Given the description of an element on the screen output the (x, y) to click on. 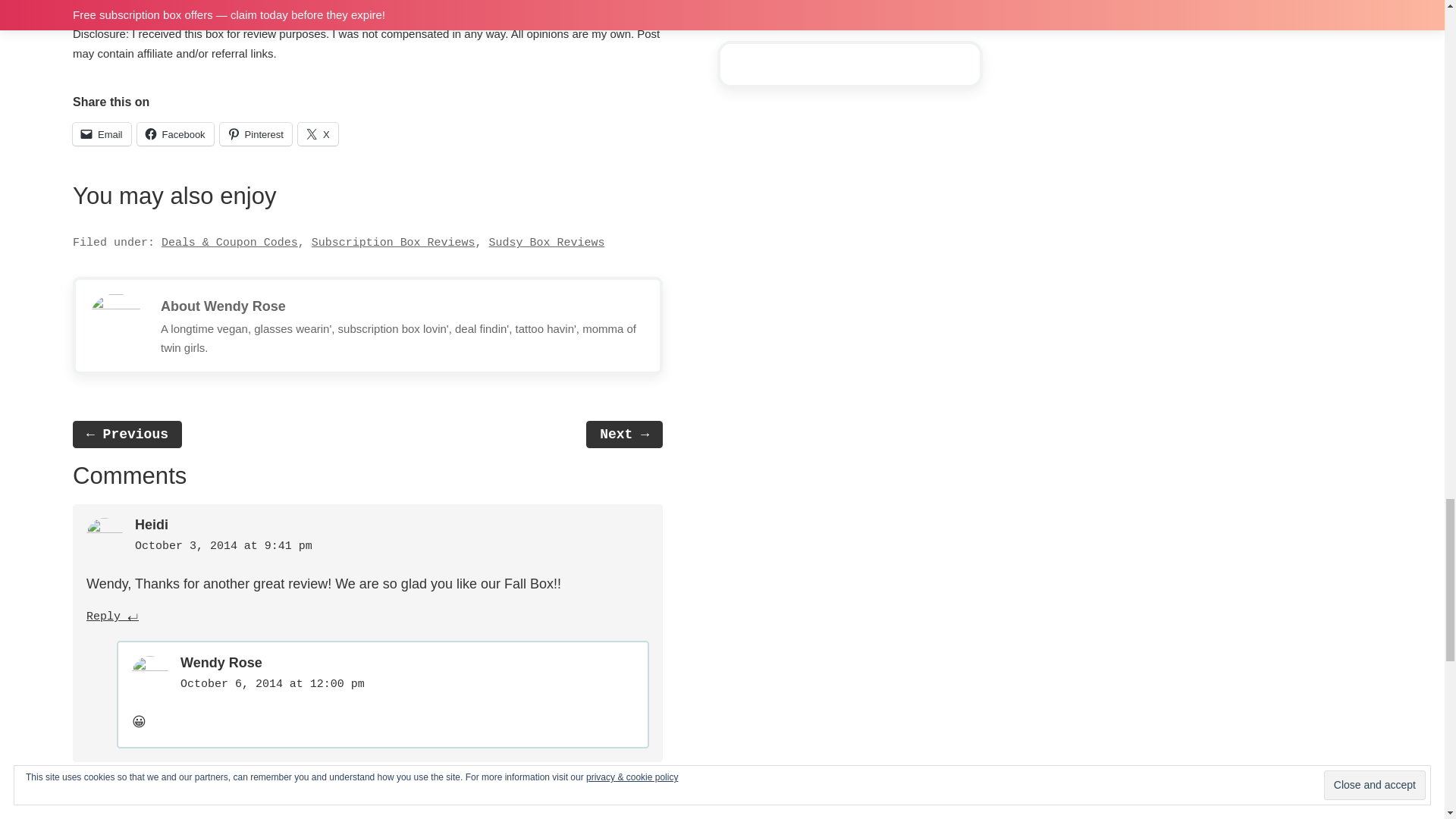
Click to share on X (317, 133)
Click to share on Pinterest (255, 133)
Click to share on Facebook (175, 133)
Click to email a link to a friend (101, 133)
